Given the description of an element on the screen output the (x, y) to click on. 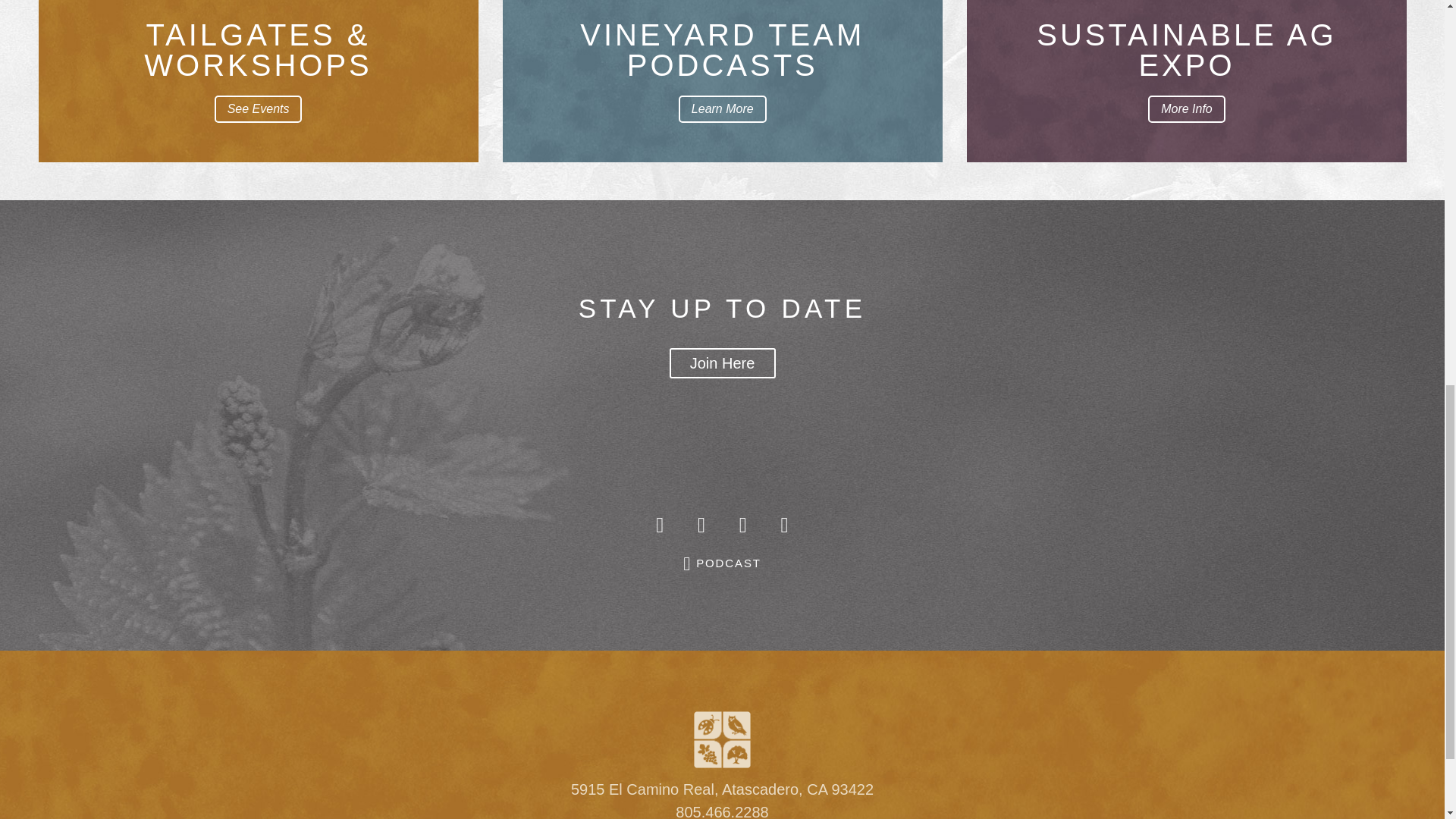
Join Here (721, 363)
PODCAST (721, 562)
805.466.2288 (721, 811)
